Given the description of an element on the screen output the (x, y) to click on. 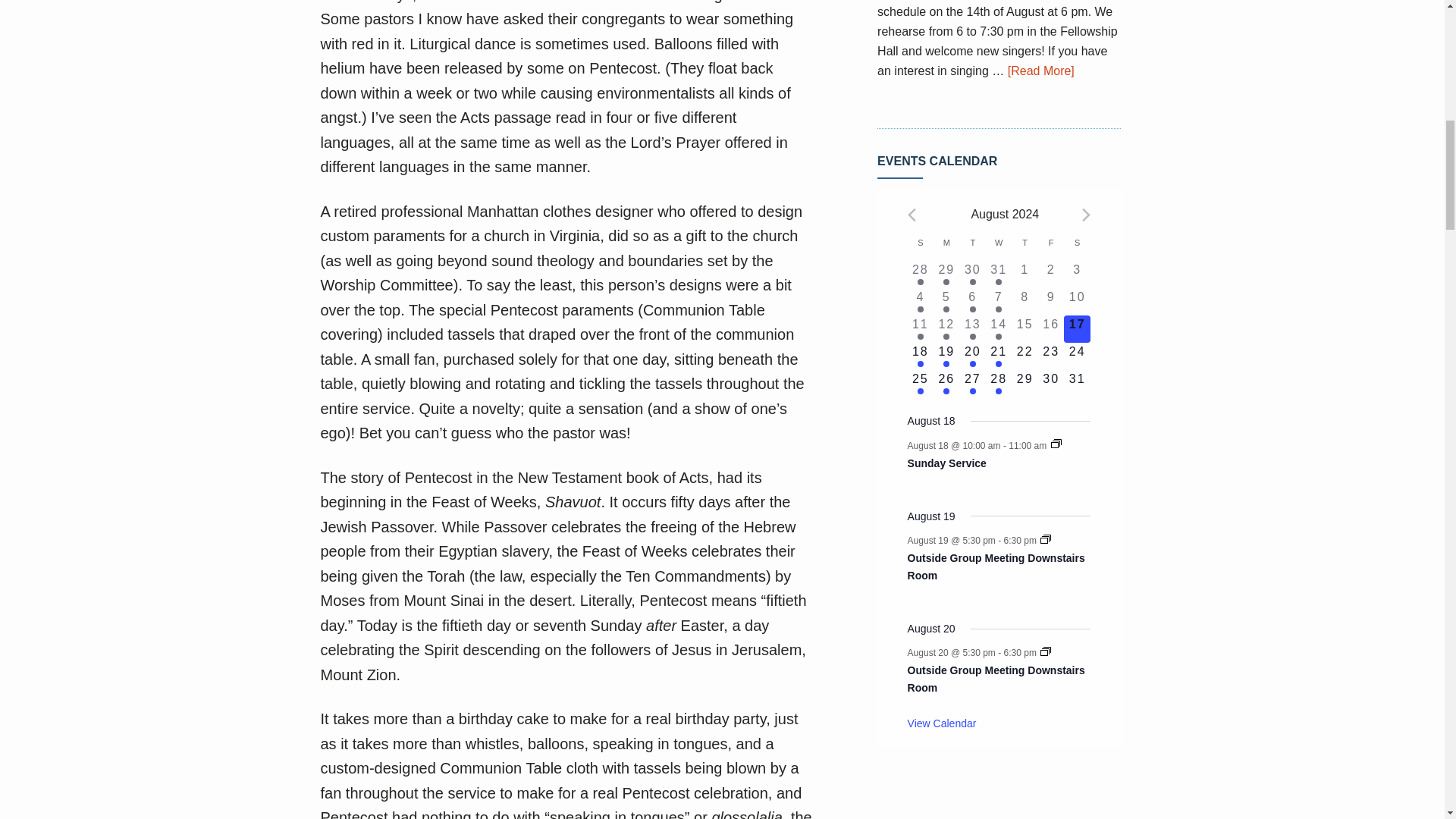
Has events (972, 282)
Event Series (1056, 442)
Has events (946, 282)
Event Series (1046, 651)
Has events (920, 282)
Event Series (1046, 538)
